Given the description of an element on the screen output the (x, y) to click on. 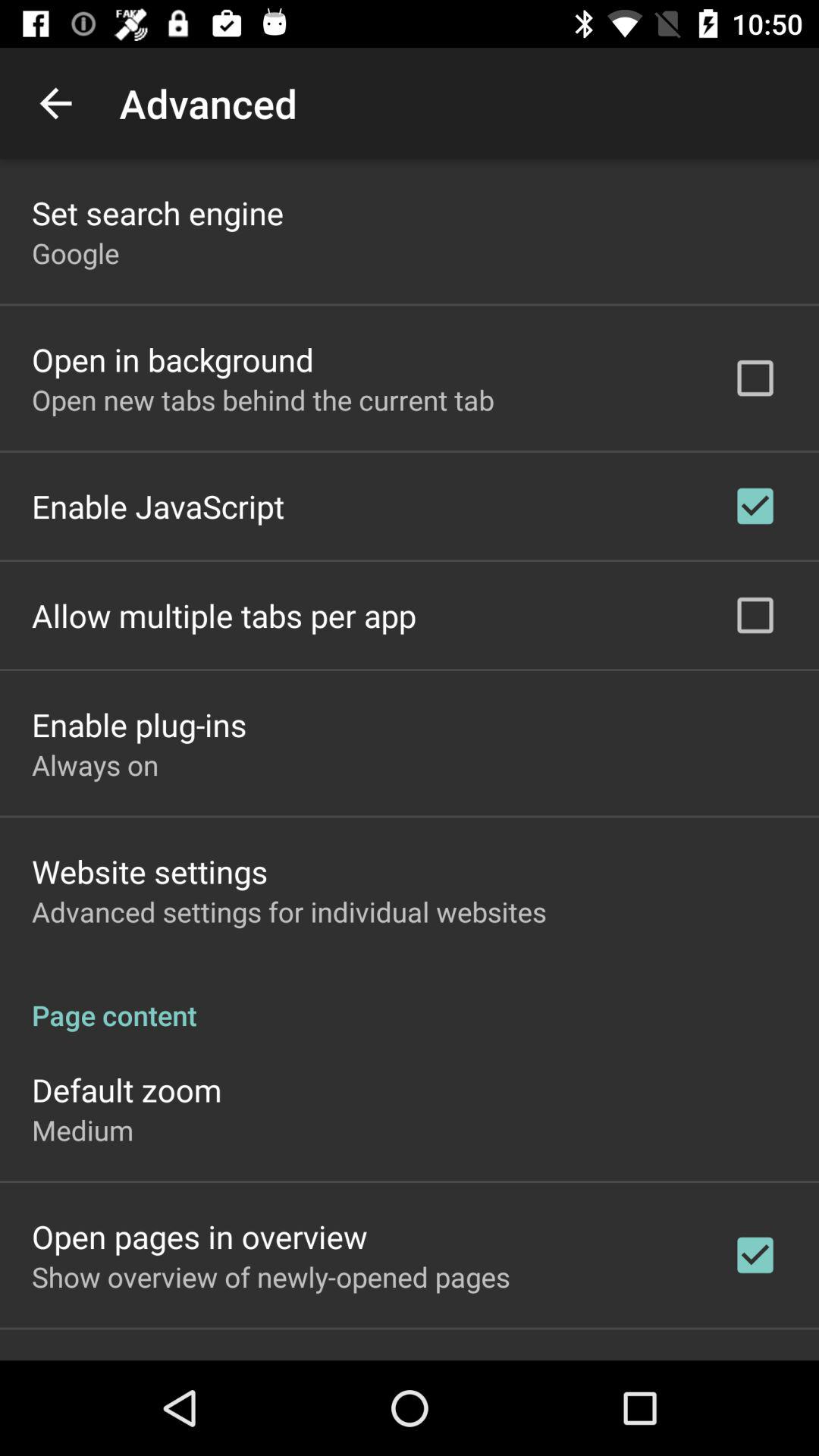
press the icon below default zoom (82, 1129)
